Given the description of an element on the screen output the (x, y) to click on. 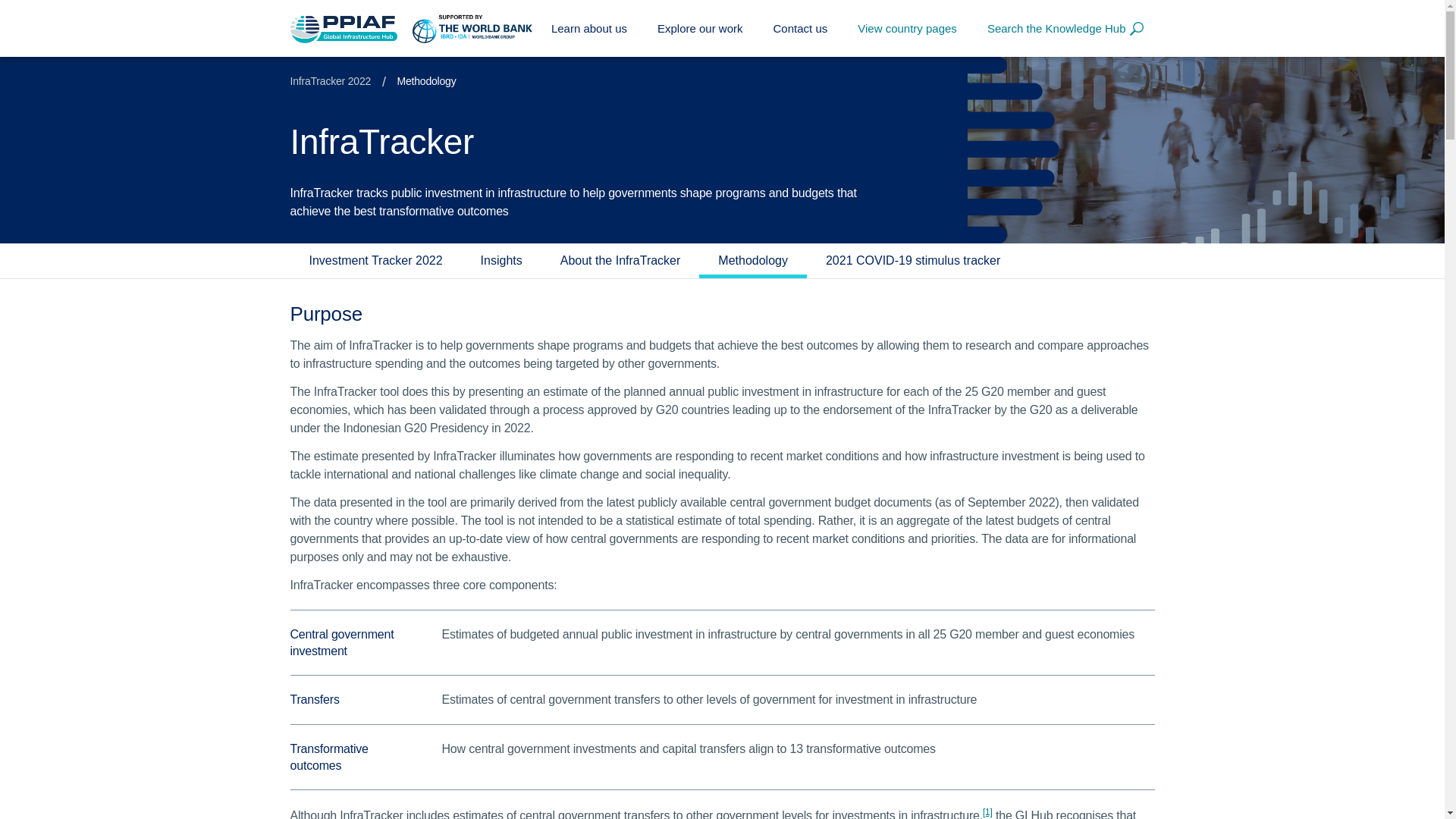
Learn about us (589, 27)
Explore our work (700, 27)
Contact us (800, 27)
View country pages (906, 27)
